Given the description of an element on the screen output the (x, y) to click on. 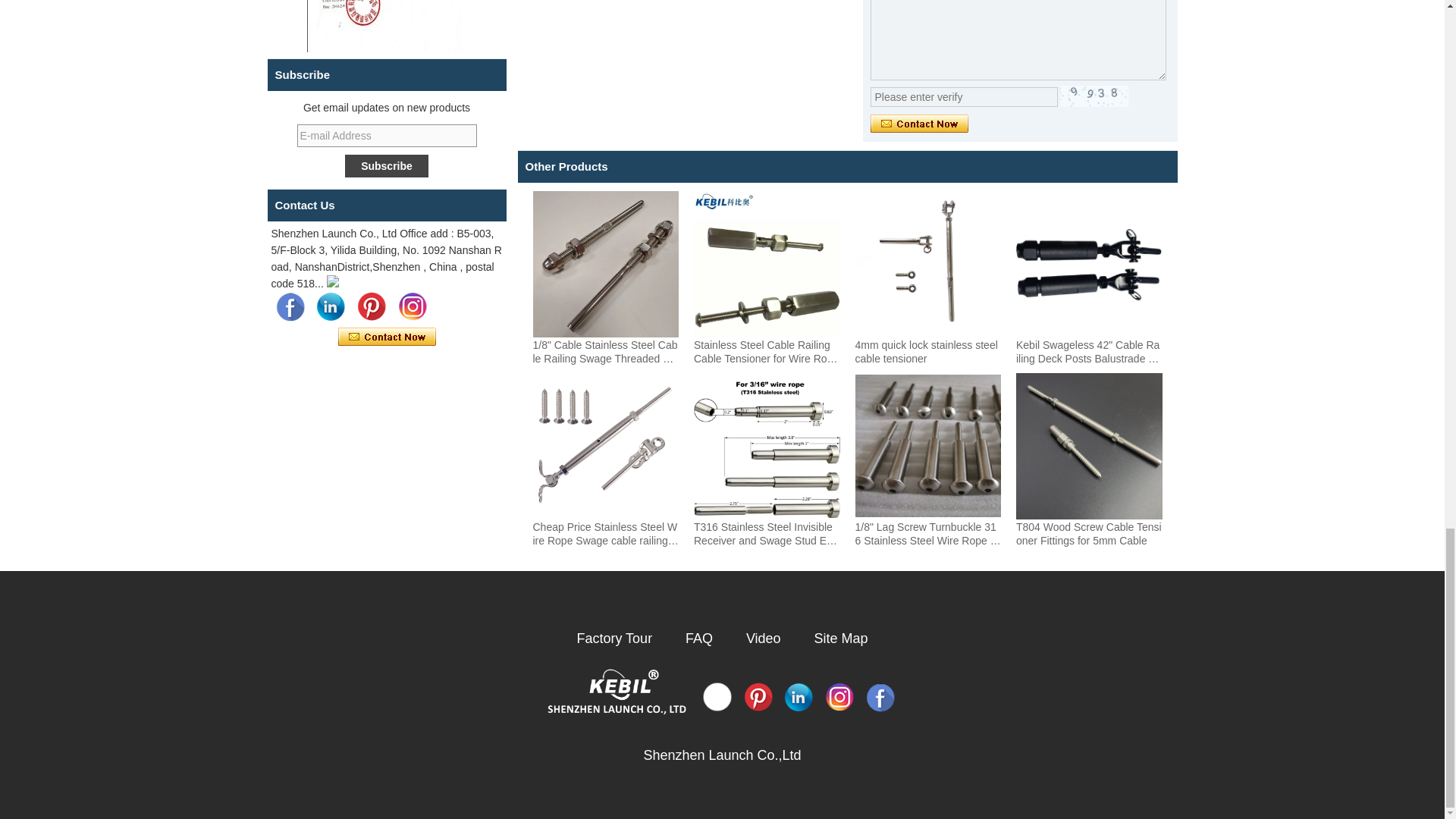
Contact Now (919, 124)
E-mail Address (387, 135)
Subscribe (386, 165)
